Given the description of an element on the screen output the (x, y) to click on. 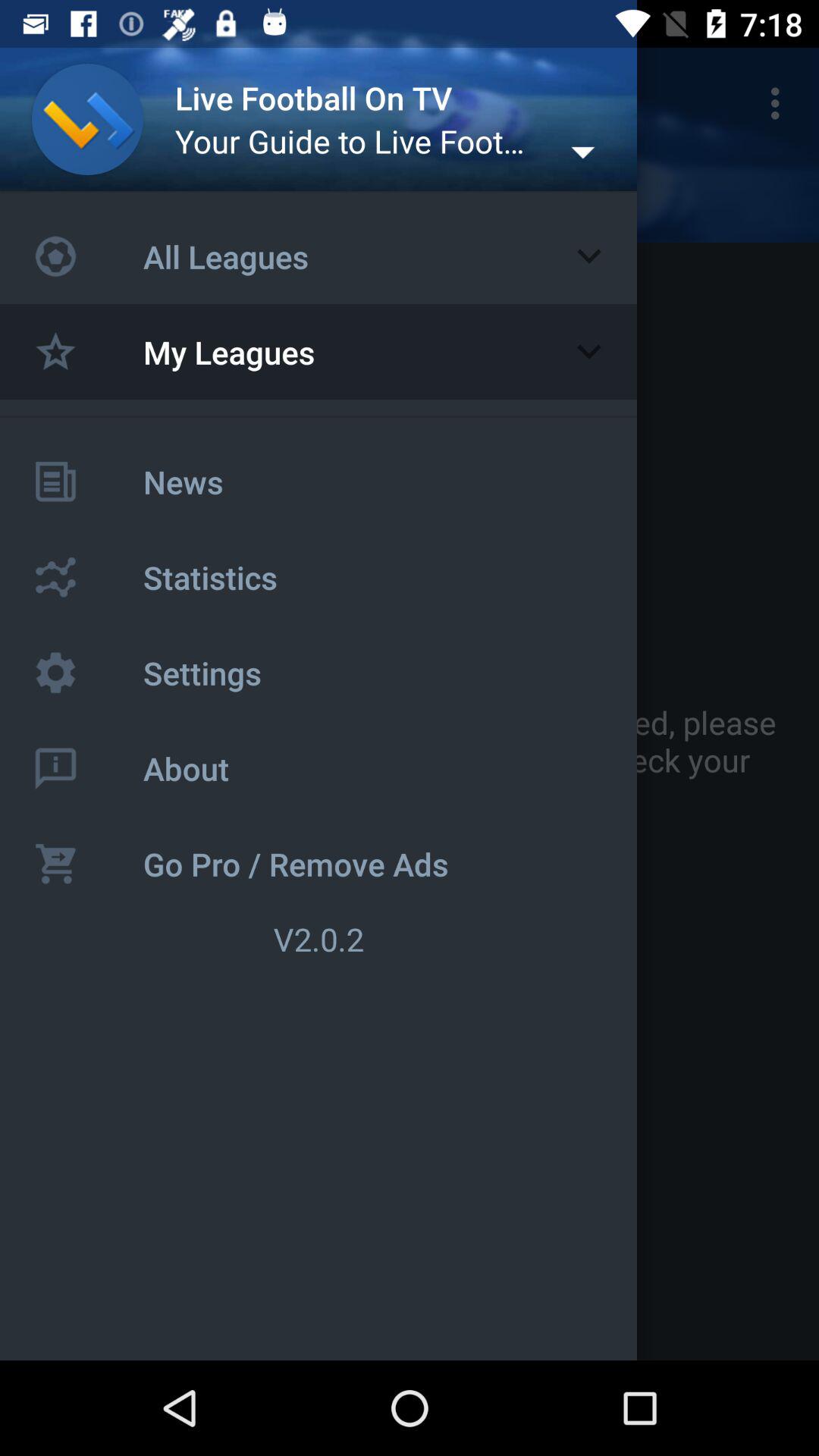
launch the icon next to the live football on (55, 103)
